Given the description of an element on the screen output the (x, y) to click on. 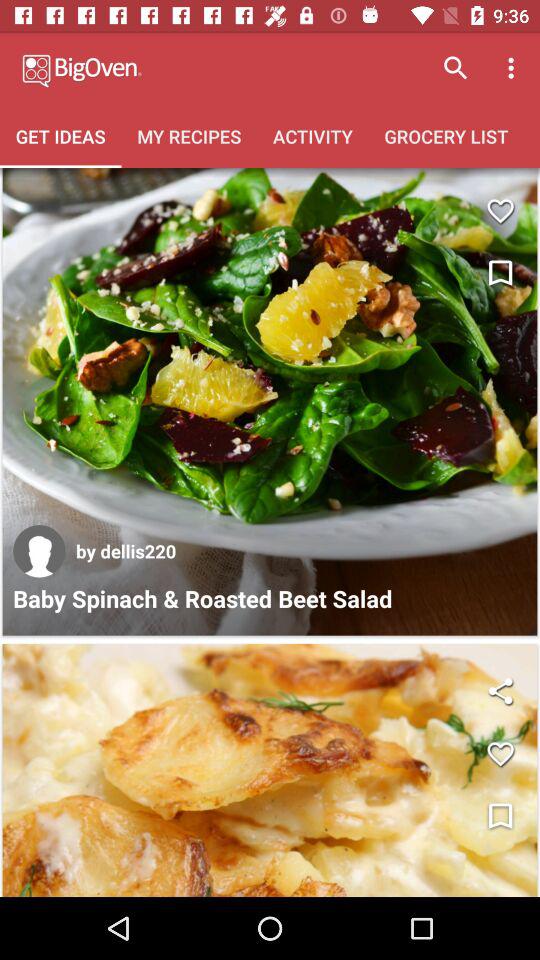
open image (269, 770)
